Given the description of an element on the screen output the (x, y) to click on. 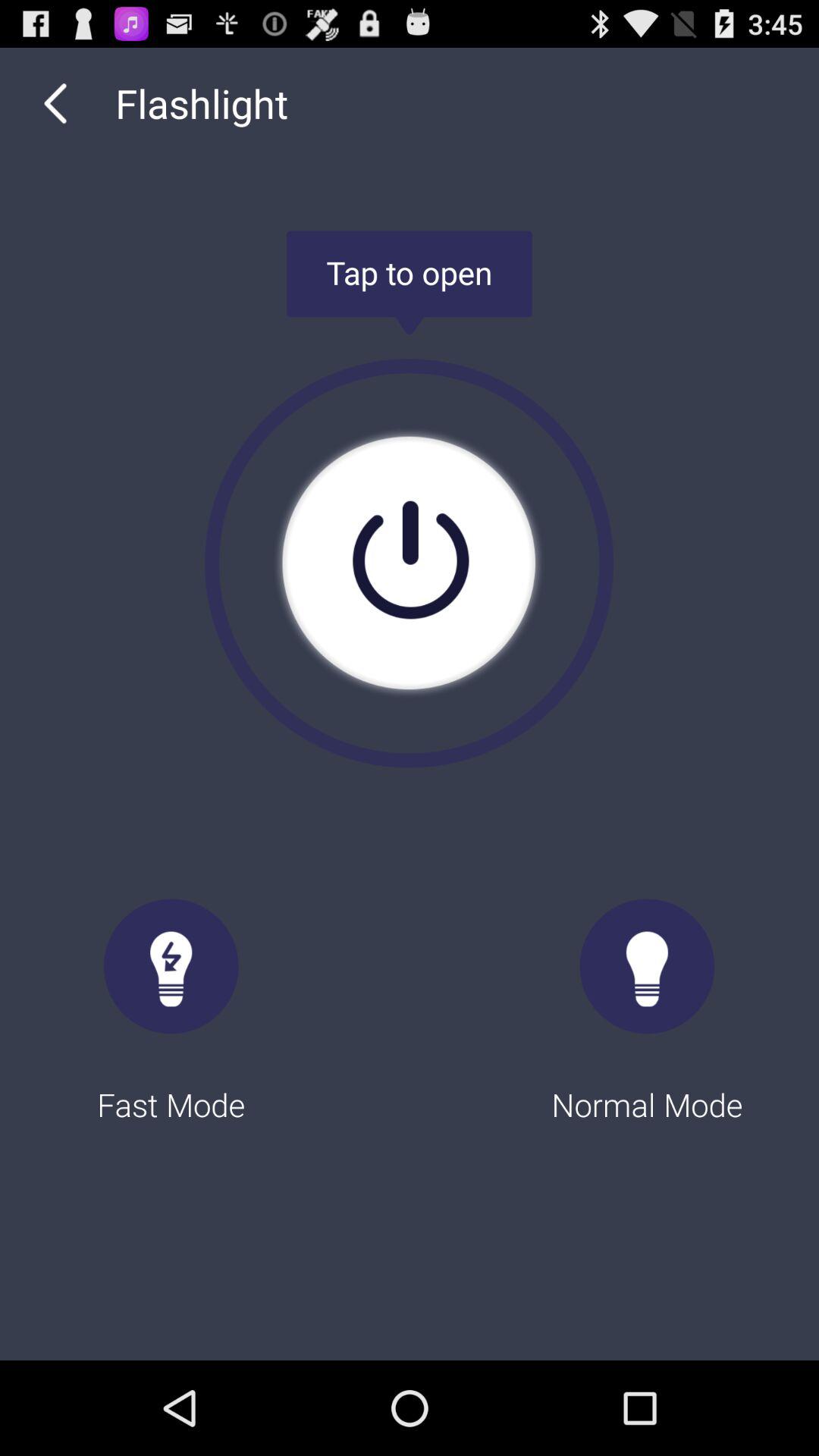
tap the fast mode icon (171, 996)
